Given the description of an element on the screen output the (x, y) to click on. 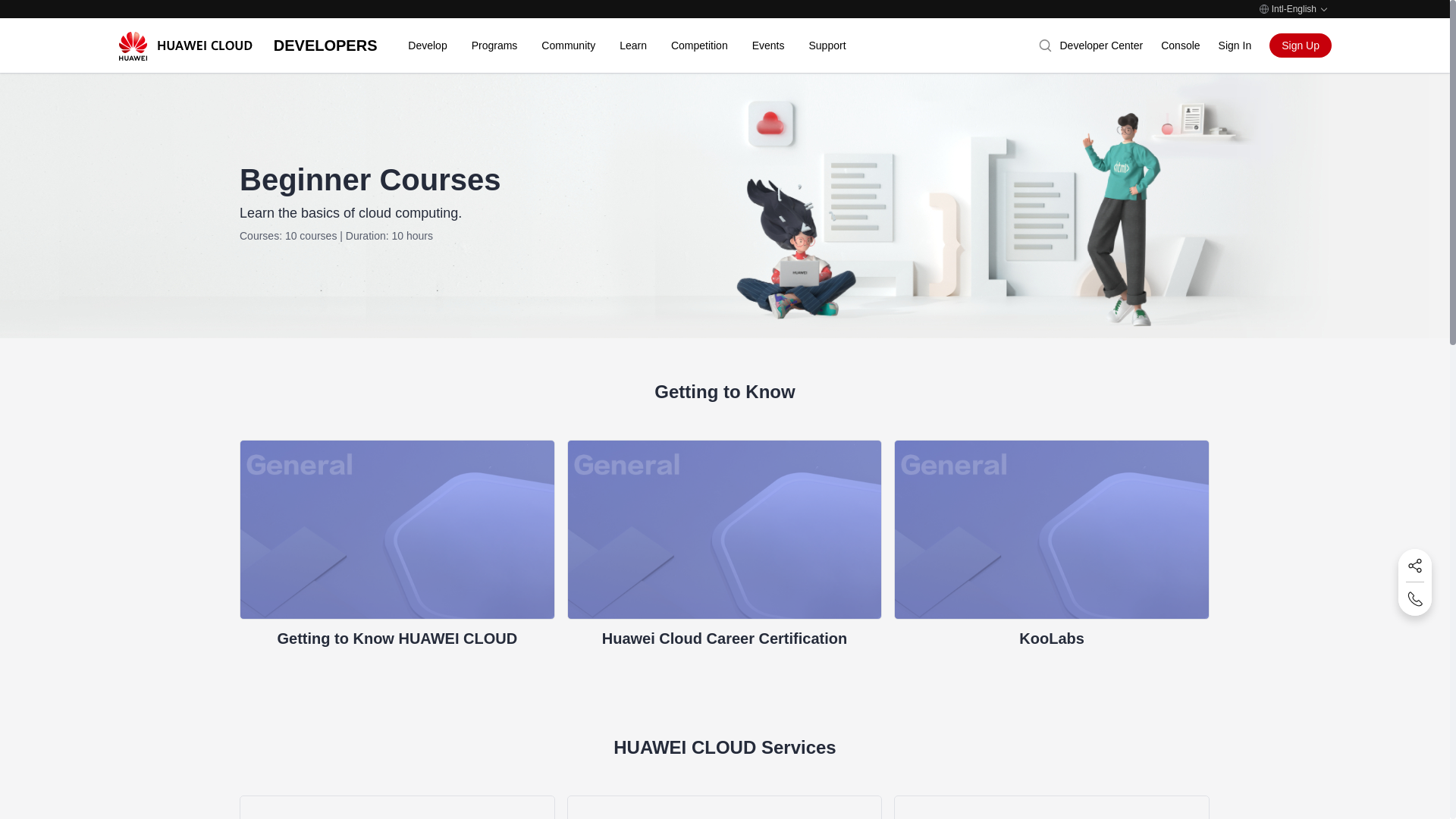
Sign Up (1300, 45)
DEVELOPERS (325, 45)
Developer Center (1100, 45)
Competition (699, 45)
Sign In (620, 45)
Console (1235, 45)
Community (1179, 45)
